Given the description of an element on the screen output the (x, y) to click on. 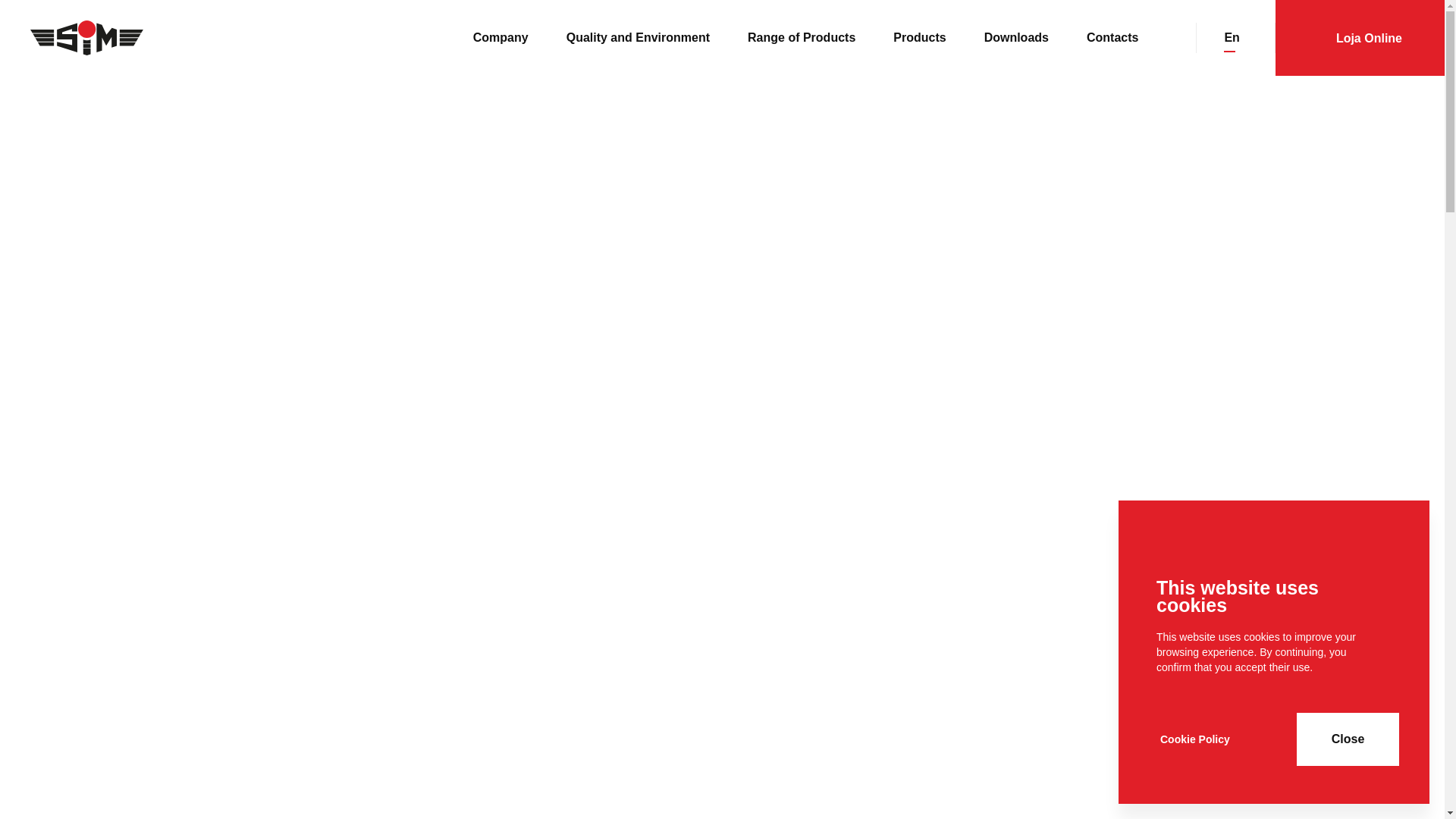
Close (1348, 738)
Range of Products (802, 38)
Quality and Environment (638, 38)
Cookie Policy (1195, 739)
